Given the description of an element on the screen output the (x, y) to click on. 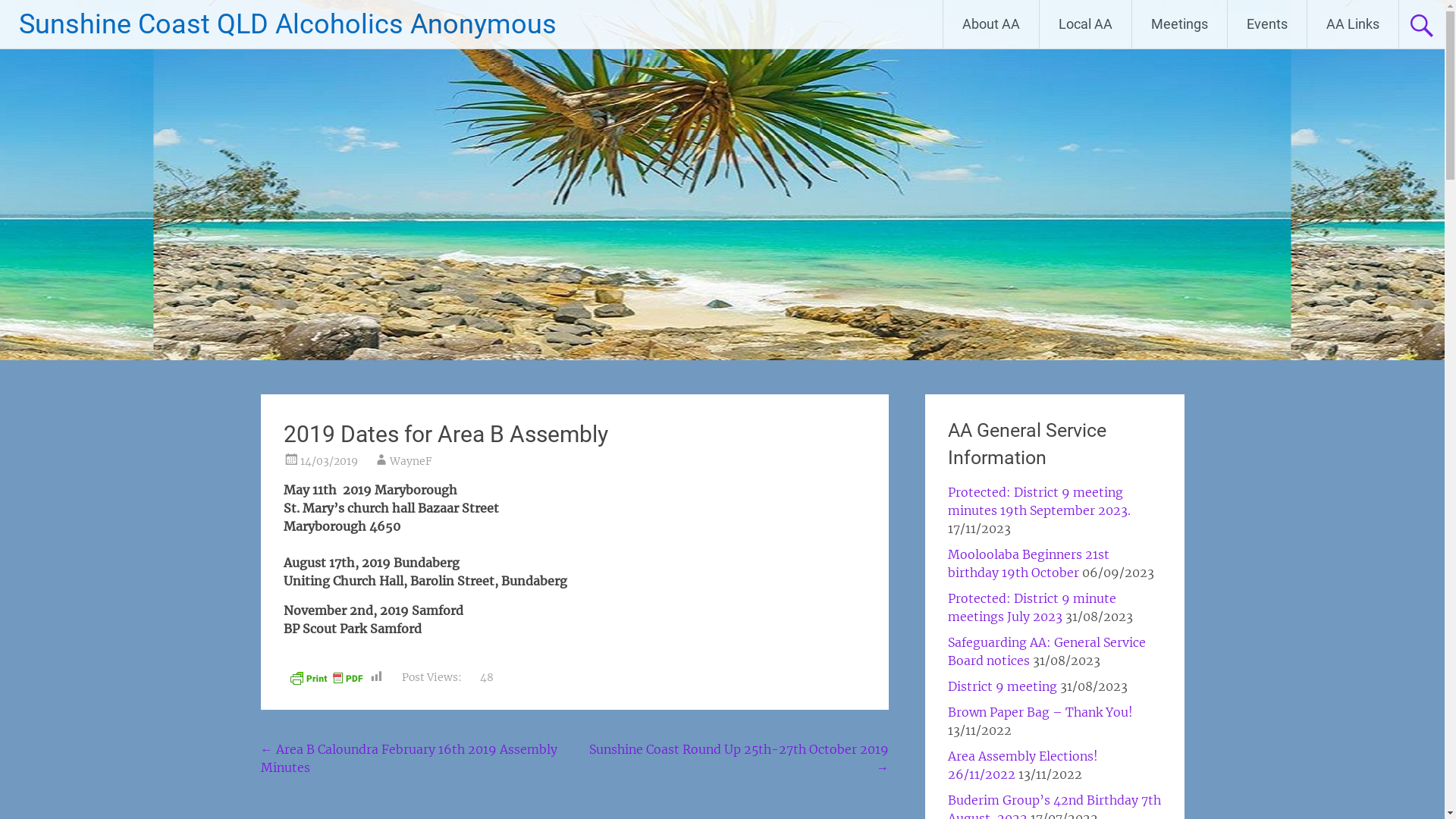
AA Links Element type: text (1352, 24)
Protected: District 9 meeting minutes 19th September 2023. Element type: text (1038, 500)
Safeguarding AA: General Service Board notices Element type: text (1046, 651)
Local AA Element type: text (1085, 24)
Mooloolaba Beginners 21st birthday 19th October Element type: text (1028, 563)
Area Assembly Elections! 26/11/2022 Element type: text (1022, 764)
WayneF Element type: text (410, 460)
Events Element type: text (1266, 24)
14/03/2019 Element type: text (328, 460)
About AA Element type: text (990, 24)
Printer Friendly, PDF & Email Element type: hover (325, 677)
Sunshine Coast QLD Alcoholics Anonymous Element type: text (287, 24)
District 9 meeting Element type: text (1002, 685)
Protected: District 9 minute meetings July 2023 Element type: text (1031, 607)
Meetings Element type: text (1179, 24)
